Given the description of an element on the screen output the (x, y) to click on. 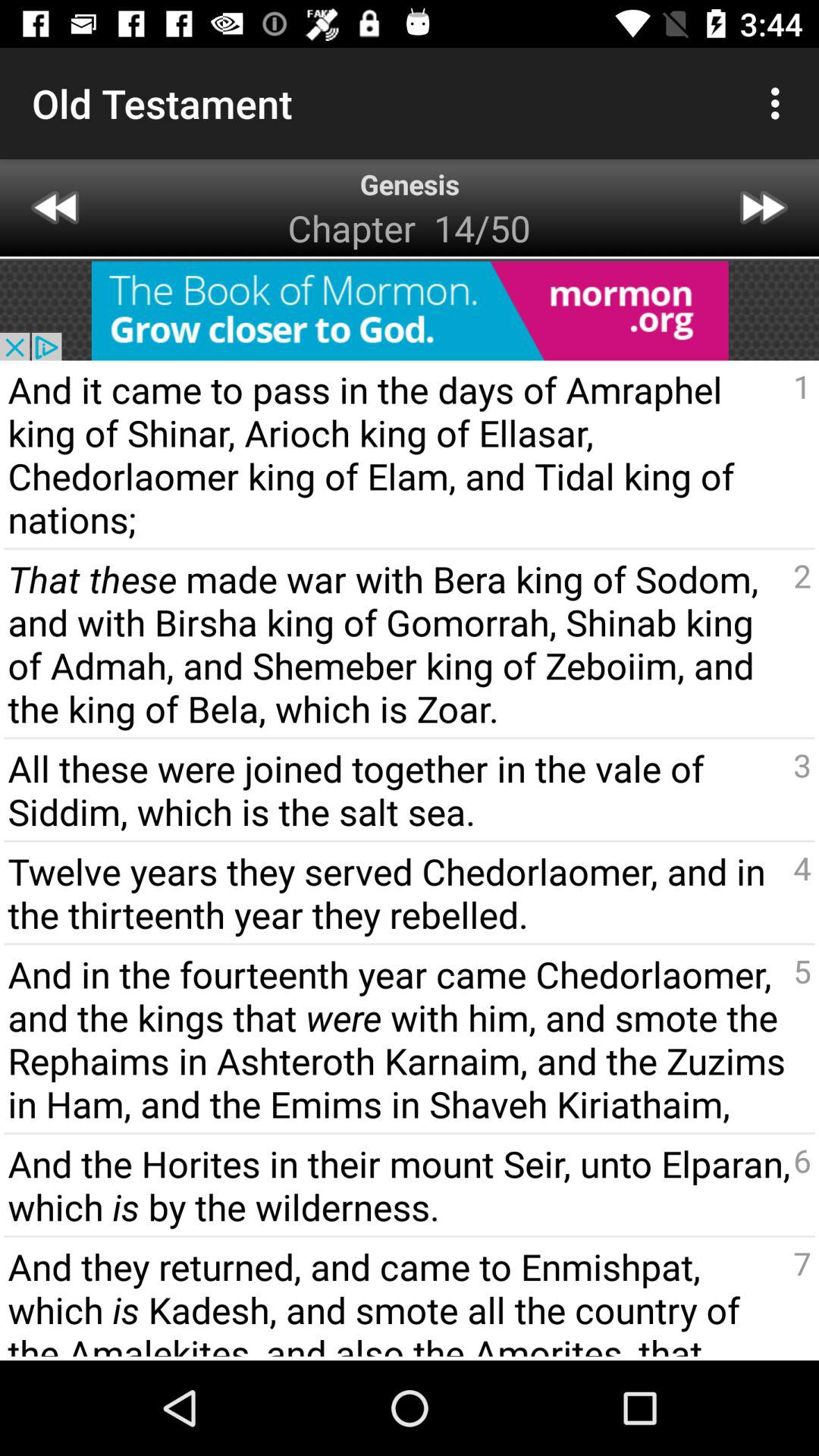
go to advertisement (409, 310)
